Given the description of an element on the screen output the (x, y) to click on. 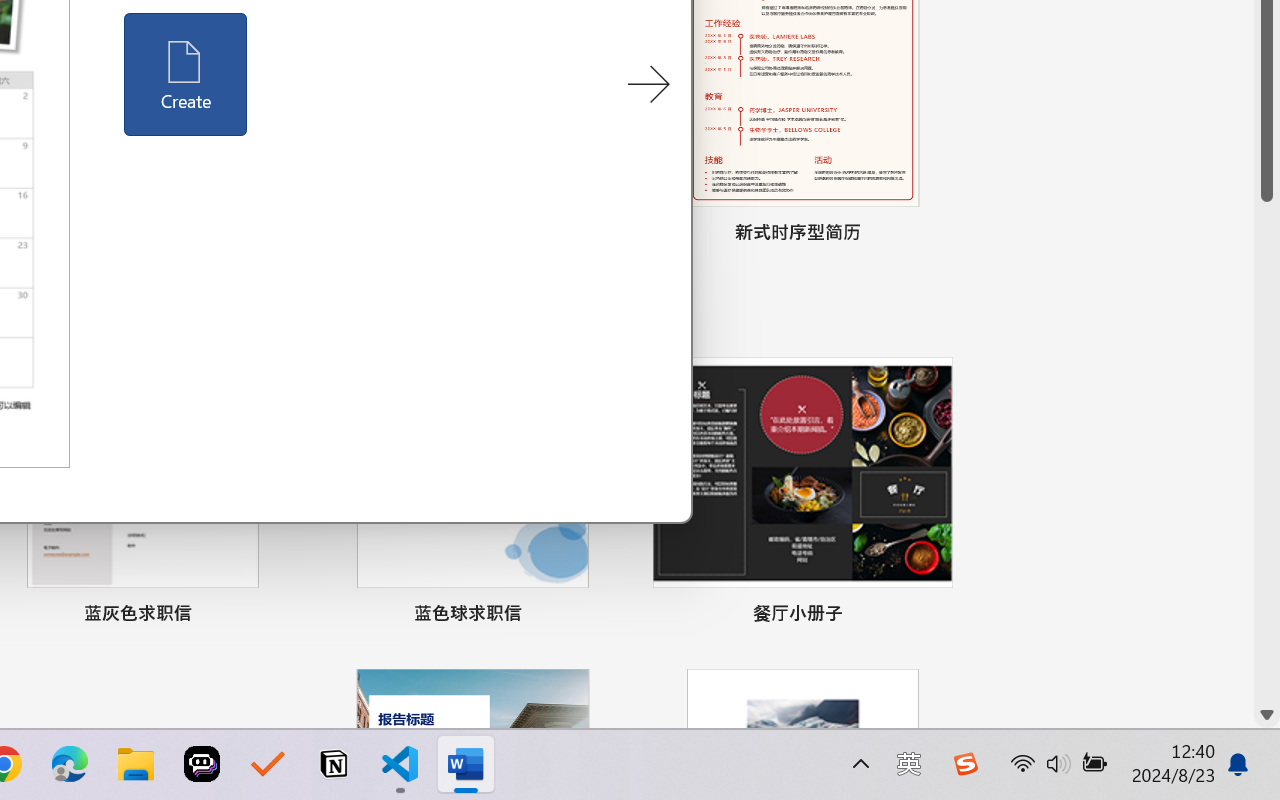
Next Template (648, 85)
Page down (1267, 451)
Create (185, 74)
Line down (1267, 715)
Pin to list (934, 616)
